Given the description of an element on the screen output the (x, y) to click on. 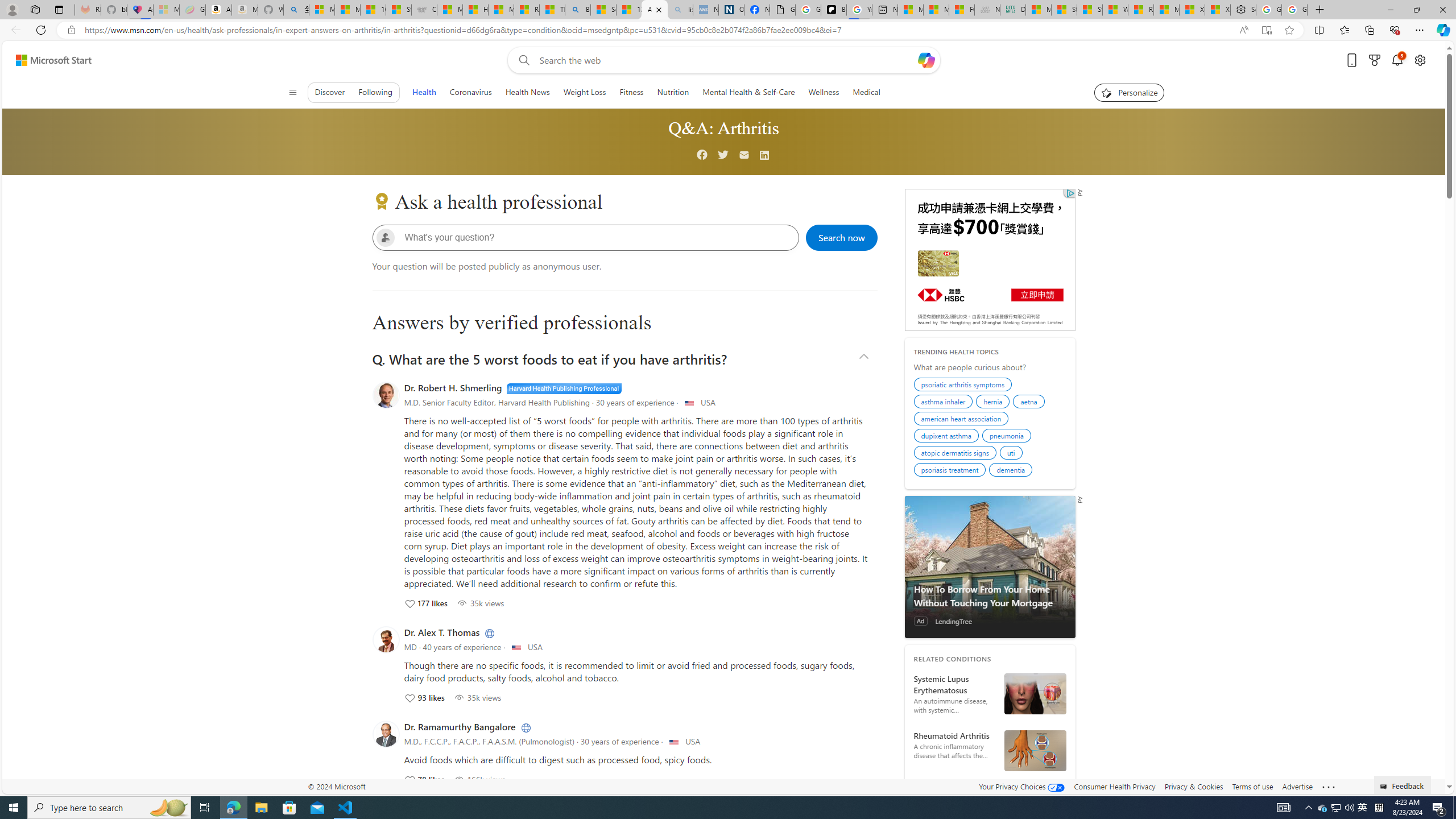
Search now (841, 237)
Enter your search term (726, 59)
Personalize your feed" (1129, 92)
35587 View; Click to View (479, 603)
Bing (577, 9)
